Given the description of an element on the screen output the (x, y) to click on. 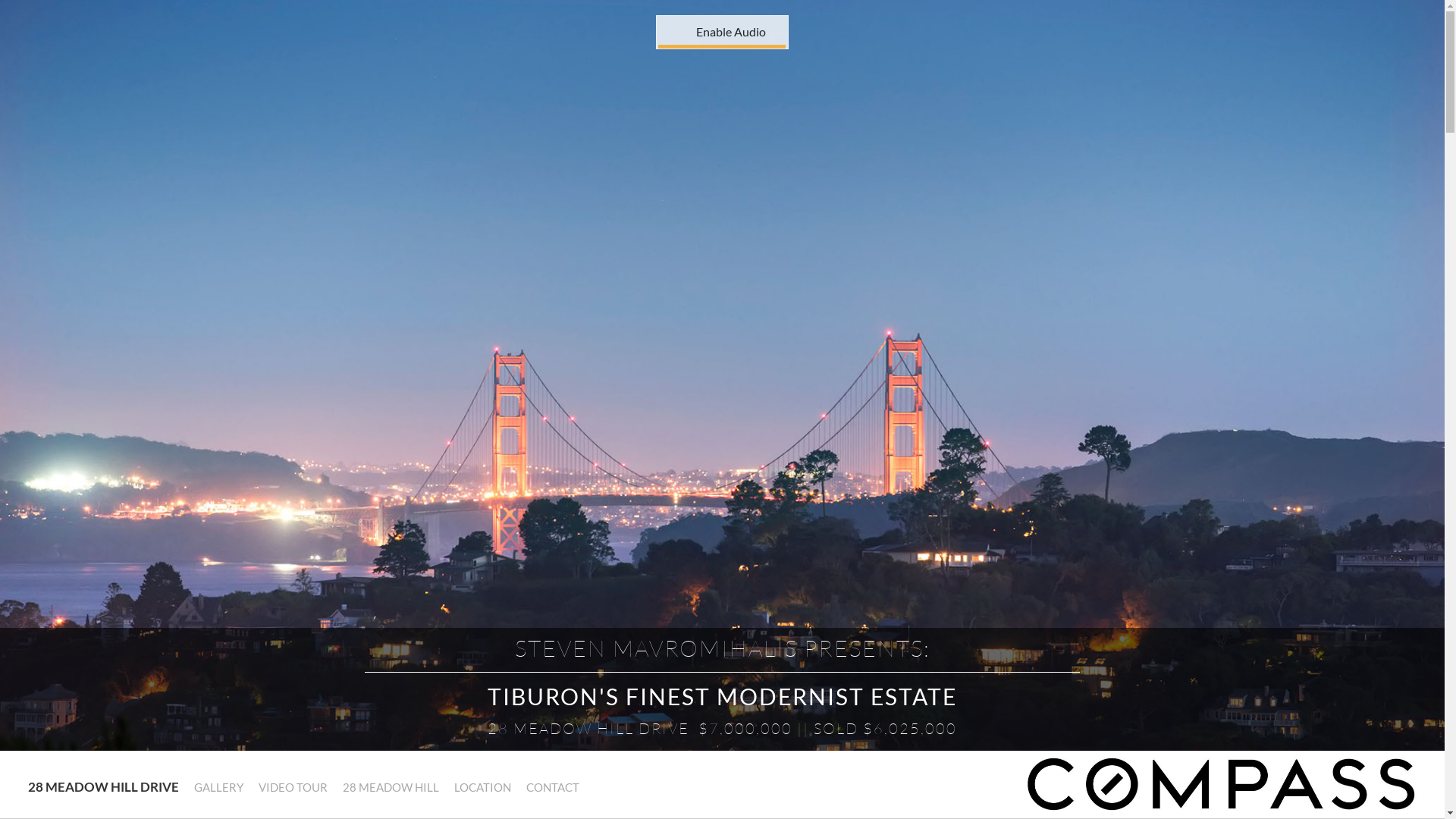
Enable Audio Element type: text (691, 25)
GALLERY Element type: text (217, 787)
28 MEADOW HILL DRIVE  $7,000,000 || SOLD $6,025,000 Element type: text (722, 728)
28 MEADOW HILL DRIVE Element type: text (102, 785)
LOCATION Element type: text (481, 787)
28 MEADOW HILL Element type: text (389, 787)
CONTACT Element type: text (551, 787)
VIDEO TOUR Element type: text (292, 787)
